Given the description of an element on the screen output the (x, y) to click on. 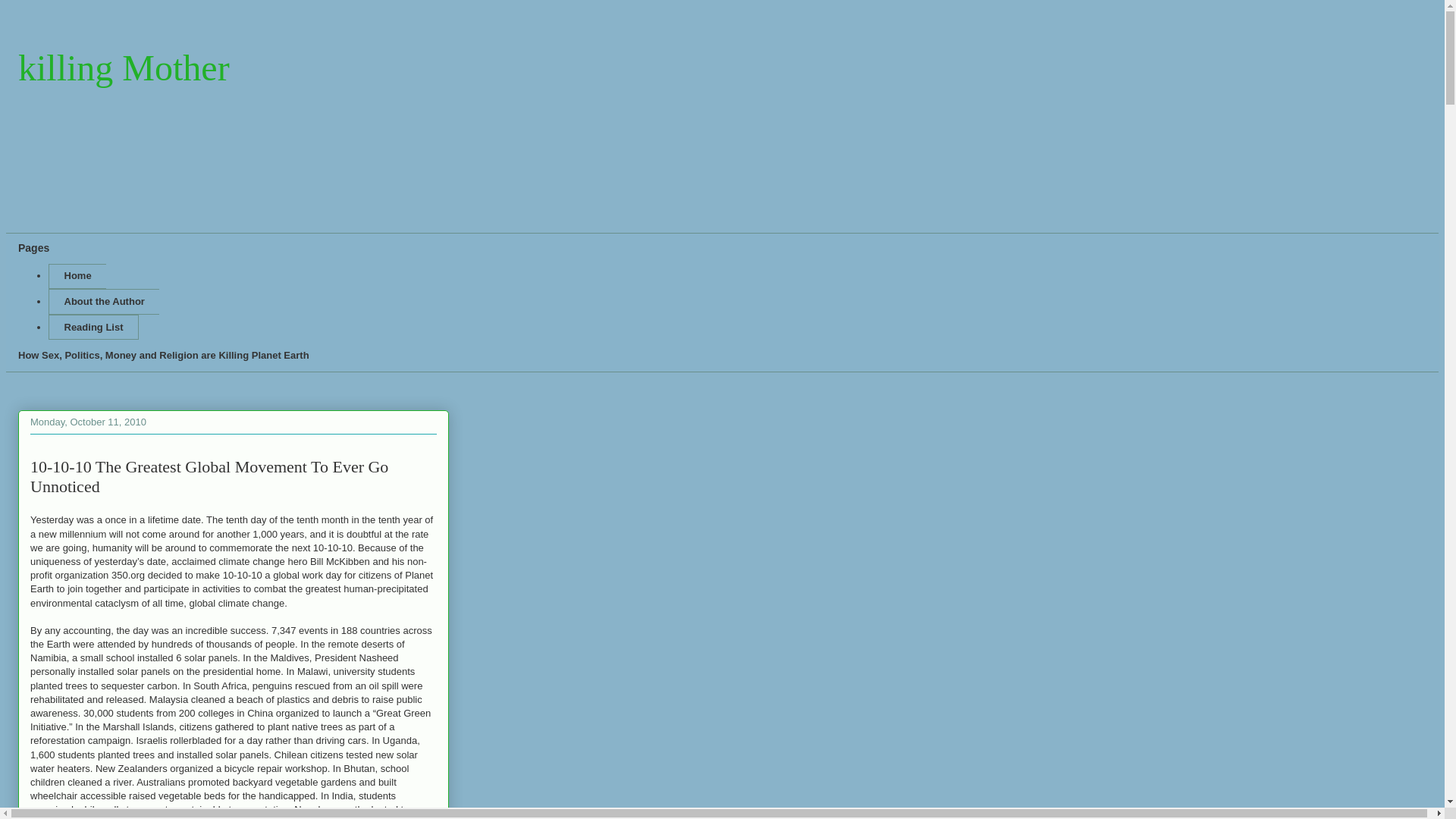
Reading List (93, 327)
About the Author (103, 301)
Home (77, 276)
killing Mother (123, 67)
